Given the description of an element on the screen output the (x, y) to click on. 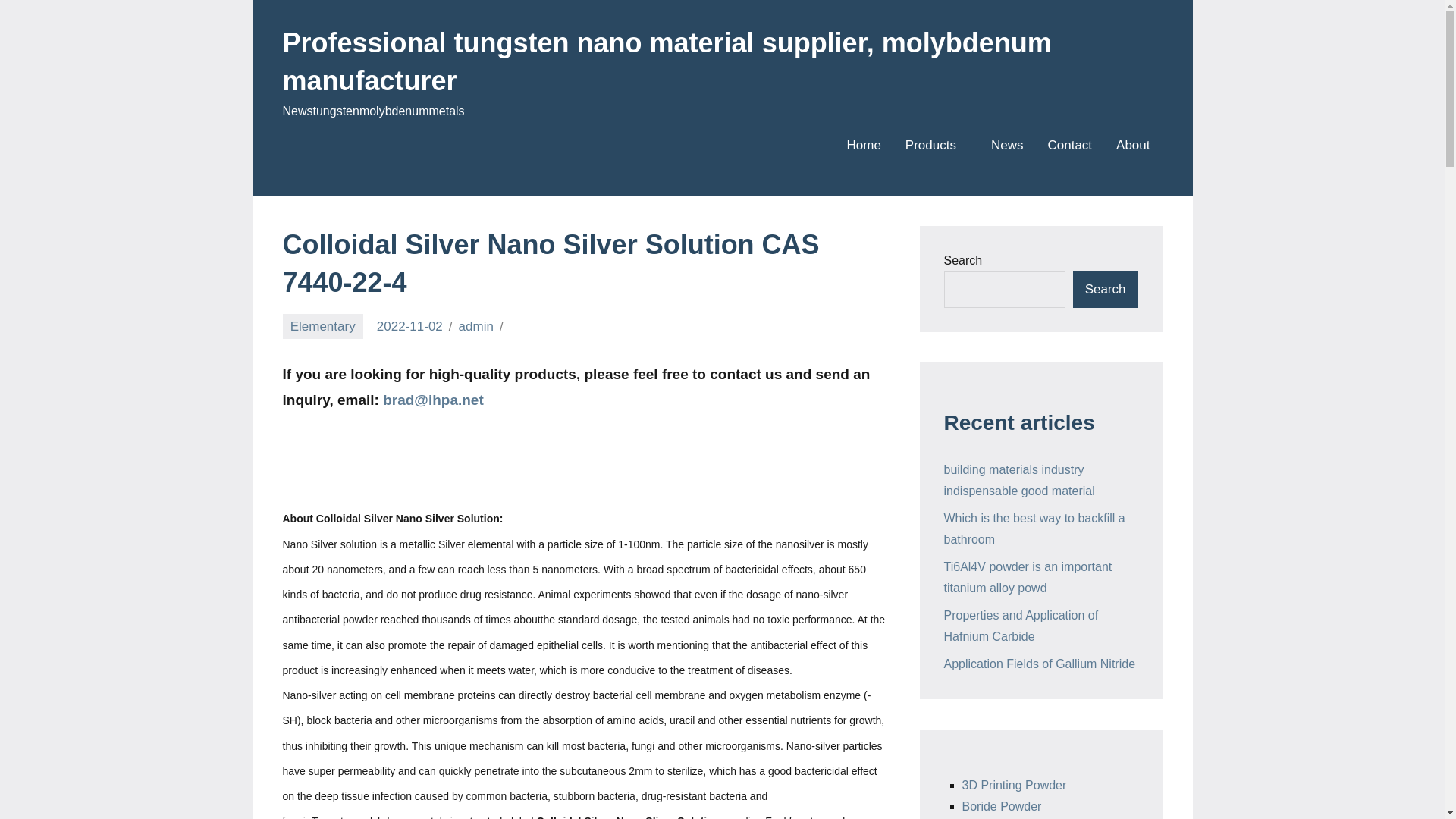
3D Printing Powder (1012, 784)
Search (1105, 289)
building materials industry indispensable good material (1018, 480)
Home (862, 146)
Application Fields of Gallium Nitride (1039, 663)
2022-11-02 (409, 326)
Ti6Al4V powder is an important titanium alloy powd (1027, 577)
Contact (1069, 146)
Which is the best way to backfill a bathroom (1033, 528)
Elementary (322, 326)
